Given the description of an element on the screen output the (x, y) to click on. 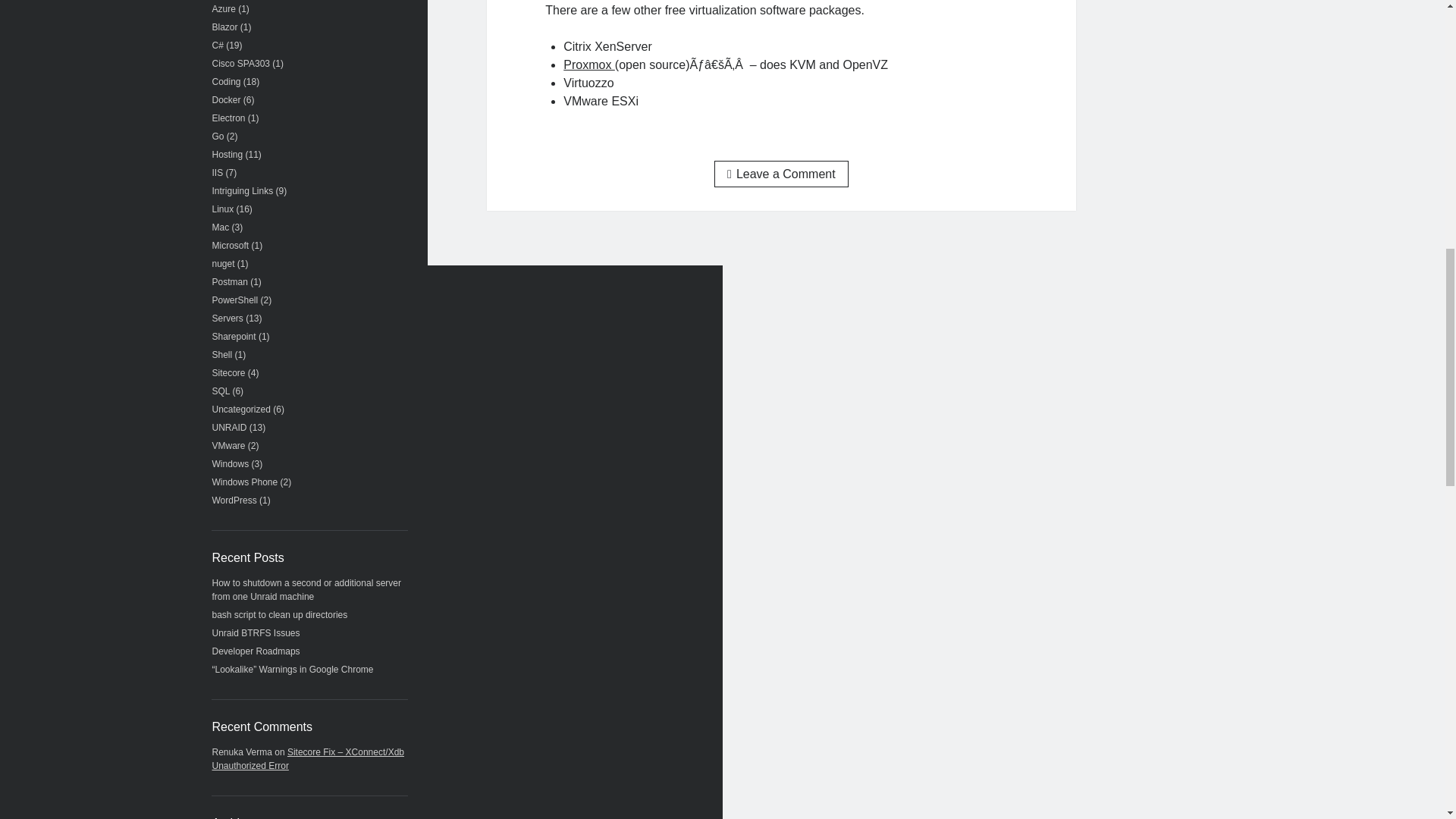
Mac (221, 226)
Go (218, 136)
IIS (218, 172)
Cisco SPA303 (240, 63)
Coding (226, 81)
Linux (223, 208)
Hosting (227, 154)
Azure (223, 9)
Docker (226, 100)
Electron (229, 118)
Intriguing Links (242, 190)
Blazor (225, 27)
nuget (223, 263)
comment icon (731, 174)
Microsoft (230, 245)
